Given the description of an element on the screen output the (x, y) to click on. 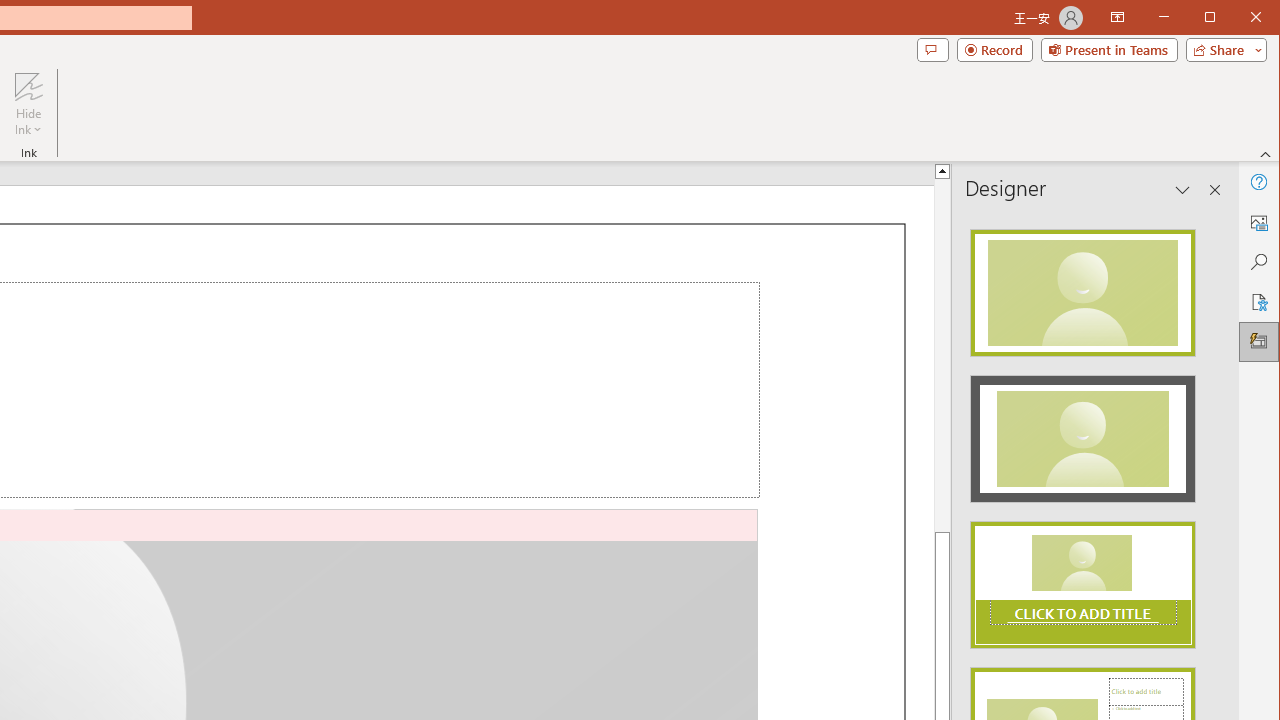
Hide Ink (28, 104)
Design Idea (1082, 579)
Maximize (1238, 18)
Alt Text (1258, 221)
Hide Ink (28, 86)
